Given the description of an element on the screen output the (x, y) to click on. 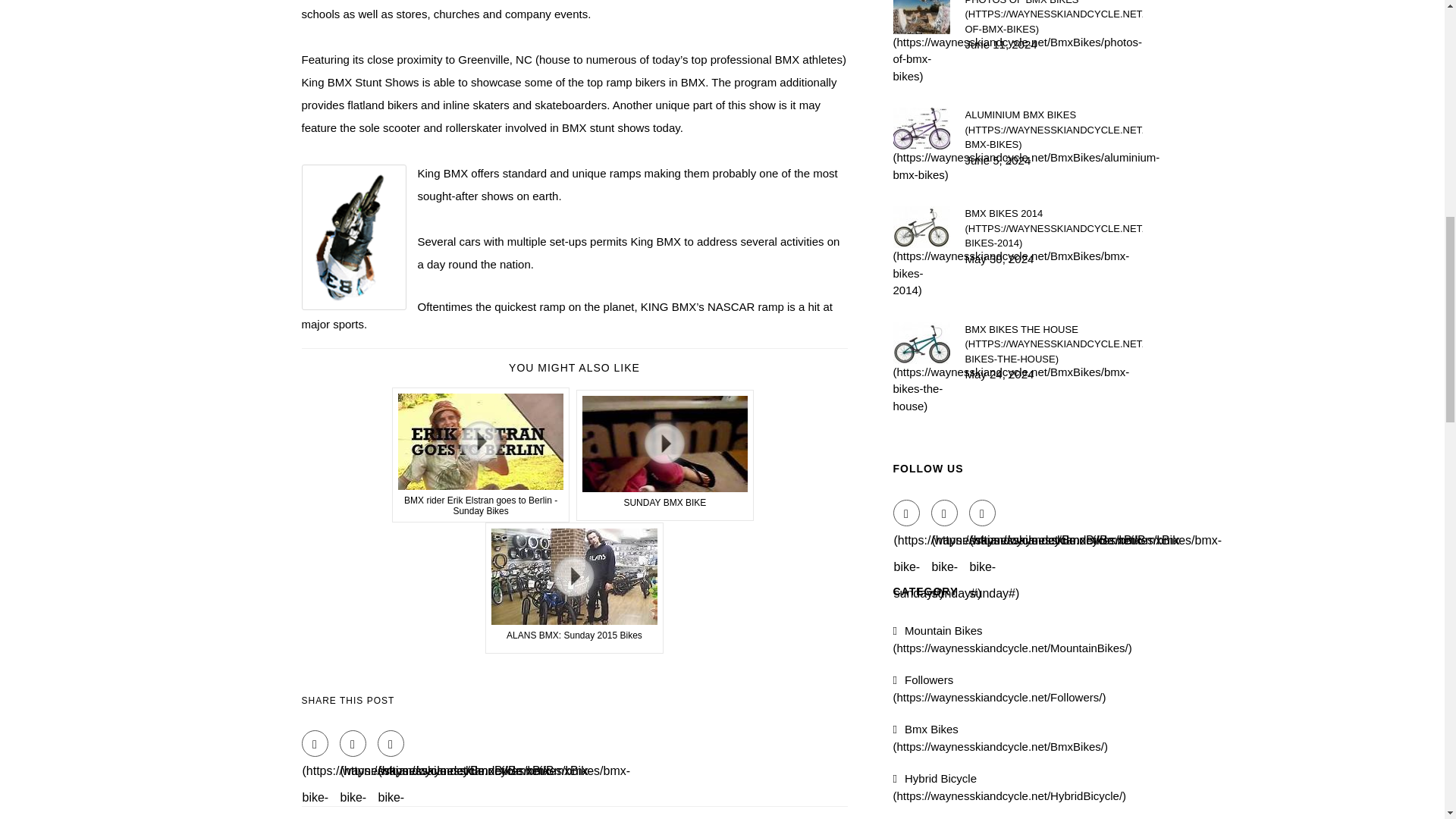
Facebook (315, 743)
Twitter (944, 512)
Facebook (906, 512)
Google Plus (390, 743)
View this video from YouTube (573, 587)
Google Plus (982, 512)
View all posts filed under Mountain Bikes (1012, 639)
View all posts filed under Hybrid Bicycle (1009, 787)
View all posts filed under Bmx Bikes (1000, 737)
View this video from YouTube (665, 454)
View all posts filed under Followers (999, 688)
Twitter (352, 743)
View this video from YouTube (480, 454)
